Given the description of an element on the screen output the (x, y) to click on. 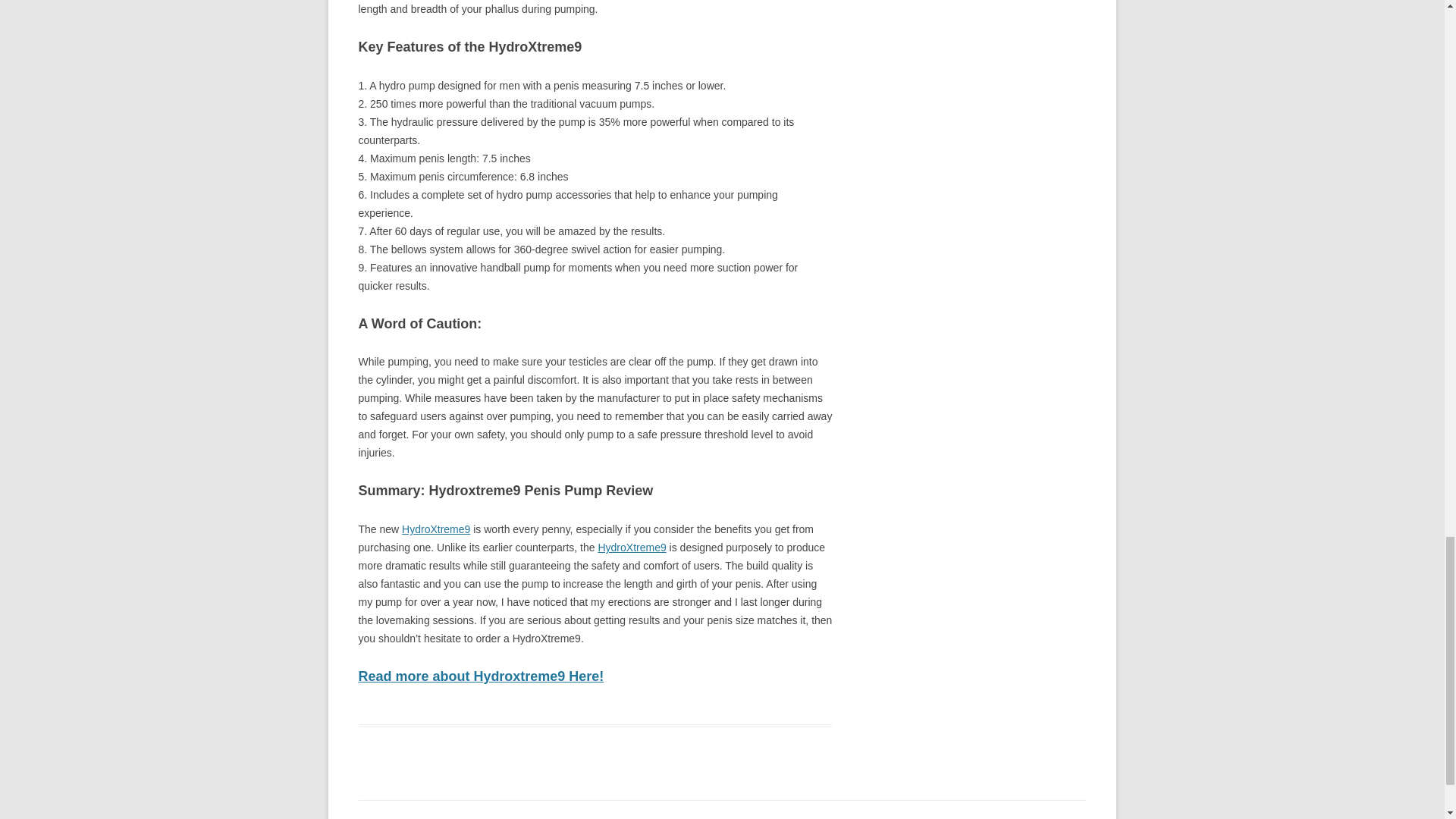
HydroXtreme9 (435, 529)
Read more about Hydroxtreme9 Here! (481, 676)
HydroXtreme9 (630, 547)
